Given the description of an element on the screen output the (x, y) to click on. 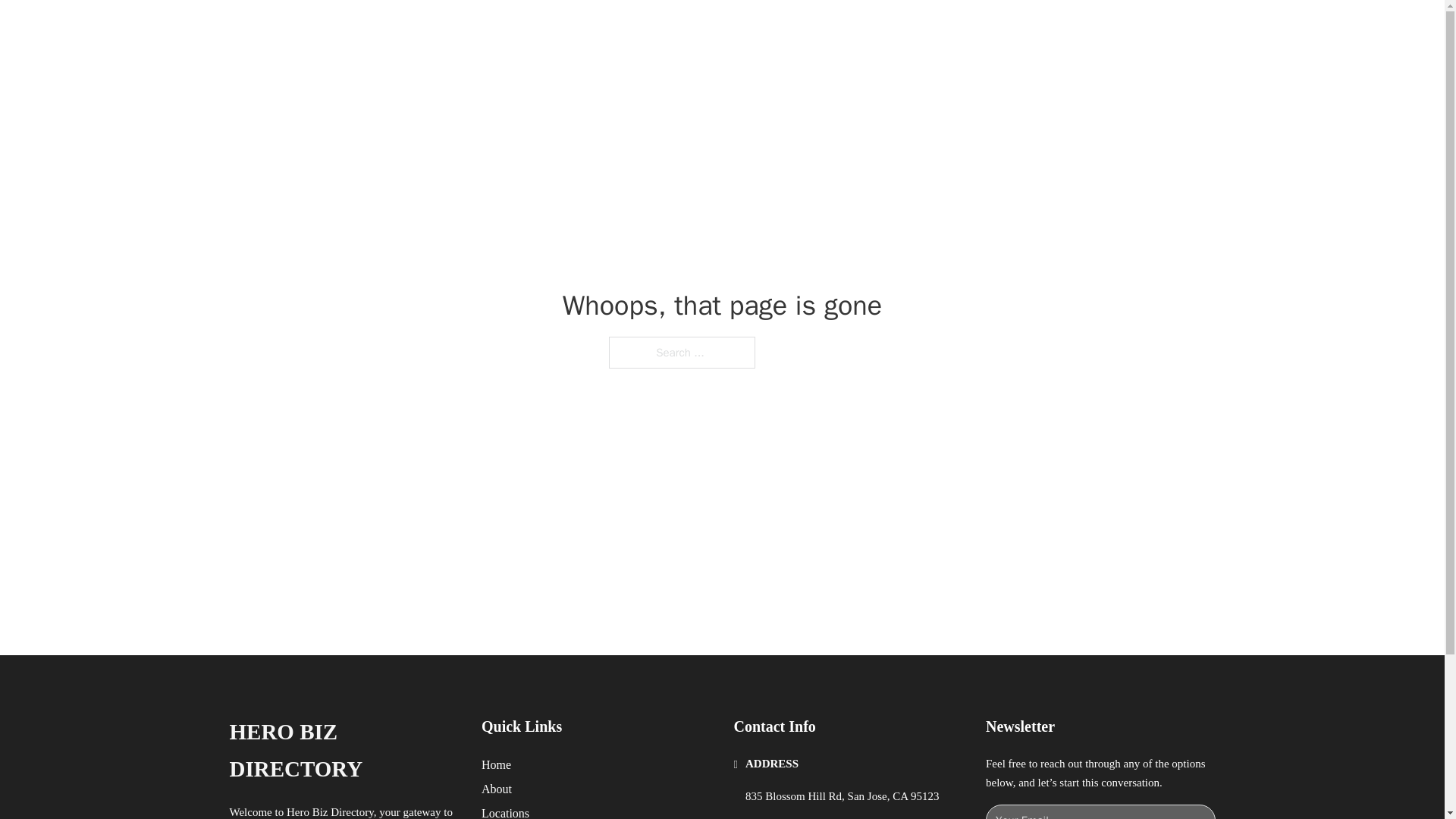
About (496, 788)
Locations (505, 811)
HOME (919, 29)
HERO BIZ DIRECTORY (417, 28)
Home (496, 764)
HERO BIZ DIRECTORY (343, 750)
LOCATIONS (990, 29)
